Given the description of an element on the screen output the (x, y) to click on. 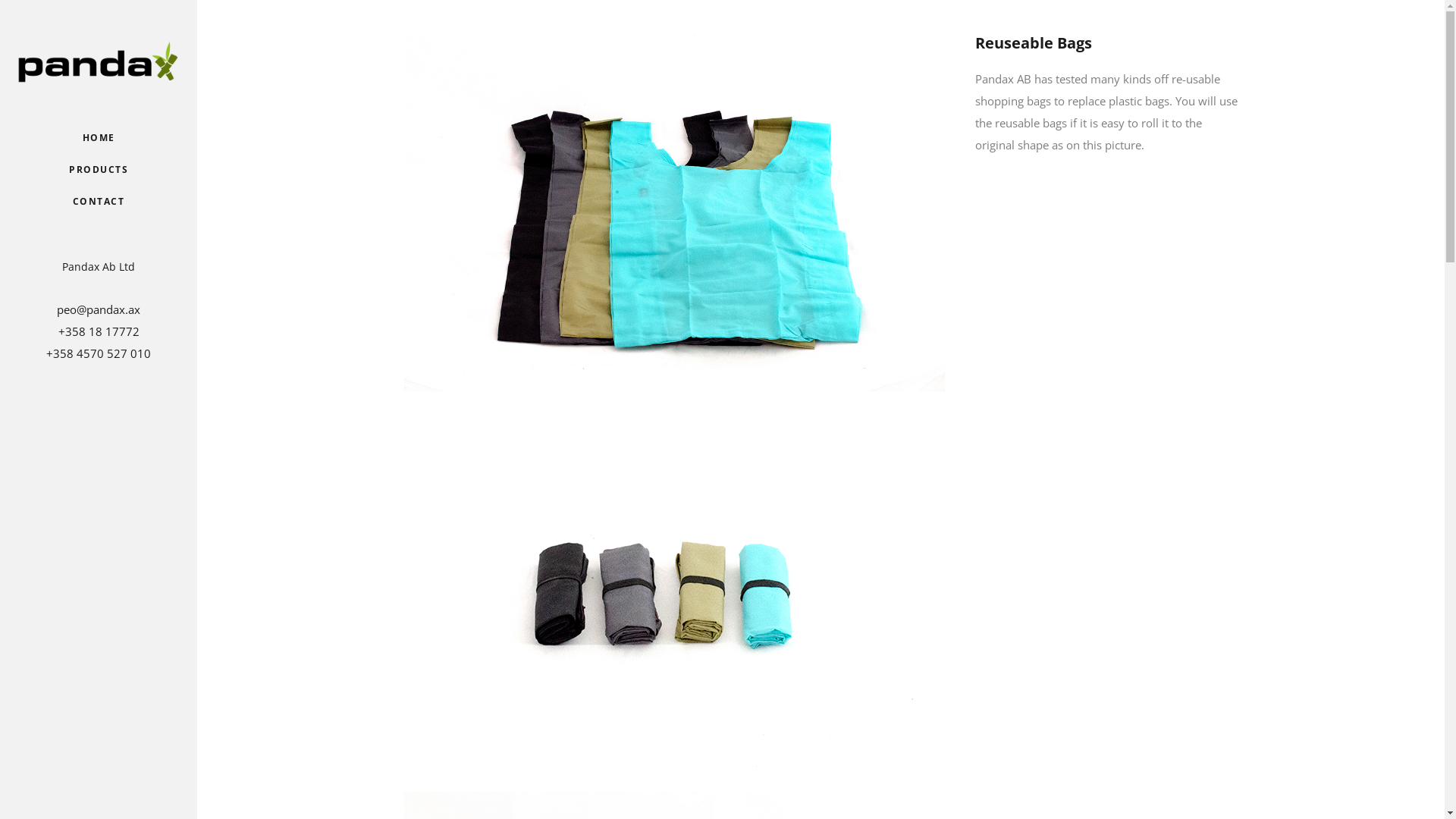
+358 4570 527 010 Element type: text (98, 352)
CONTACT Element type: text (98, 201)
Reusable bag Element type: hover (673, 212)
PRODUCTS Element type: text (98, 169)
Reusable bag Element type: hover (673, 591)
+358 18 17772 Element type: text (97, 330)
peo@pandax.ax Element type: text (98, 308)
HOME Element type: text (98, 137)
